Given the description of an element on the screen output the (x, y) to click on. 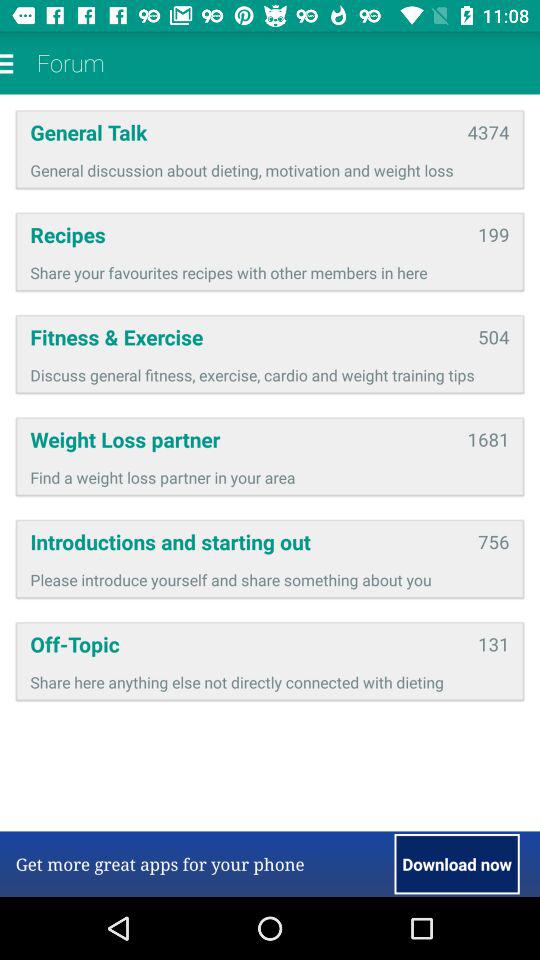
launch the item next to the 131 app (247, 644)
